Given the description of an element on the screen output the (x, y) to click on. 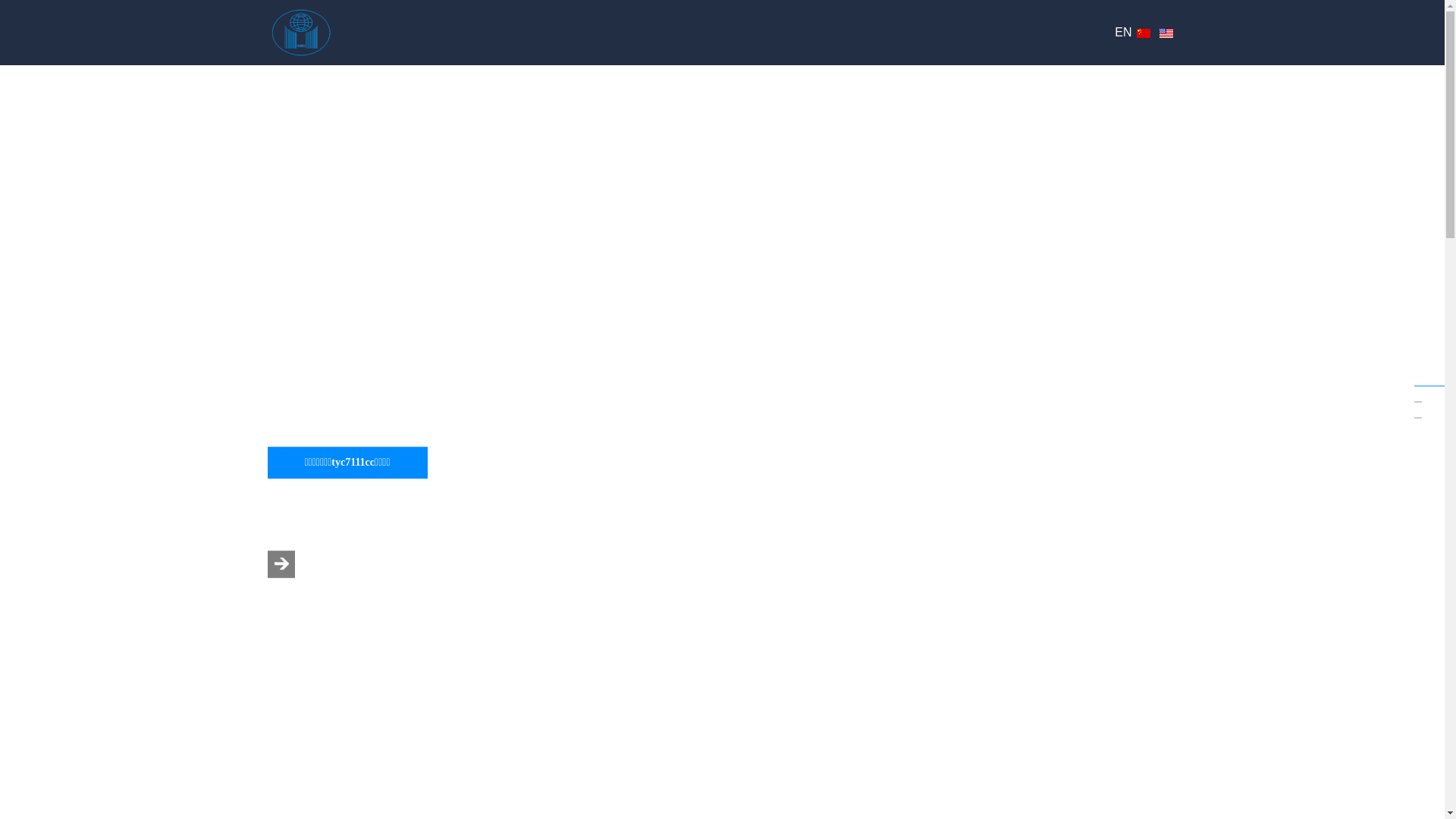
EN Element type: text (1122, 31)
English Element type: hover (1165, 32)
English Element type: hover (1165, 32)
